Given the description of an element on the screen output the (x, y) to click on. 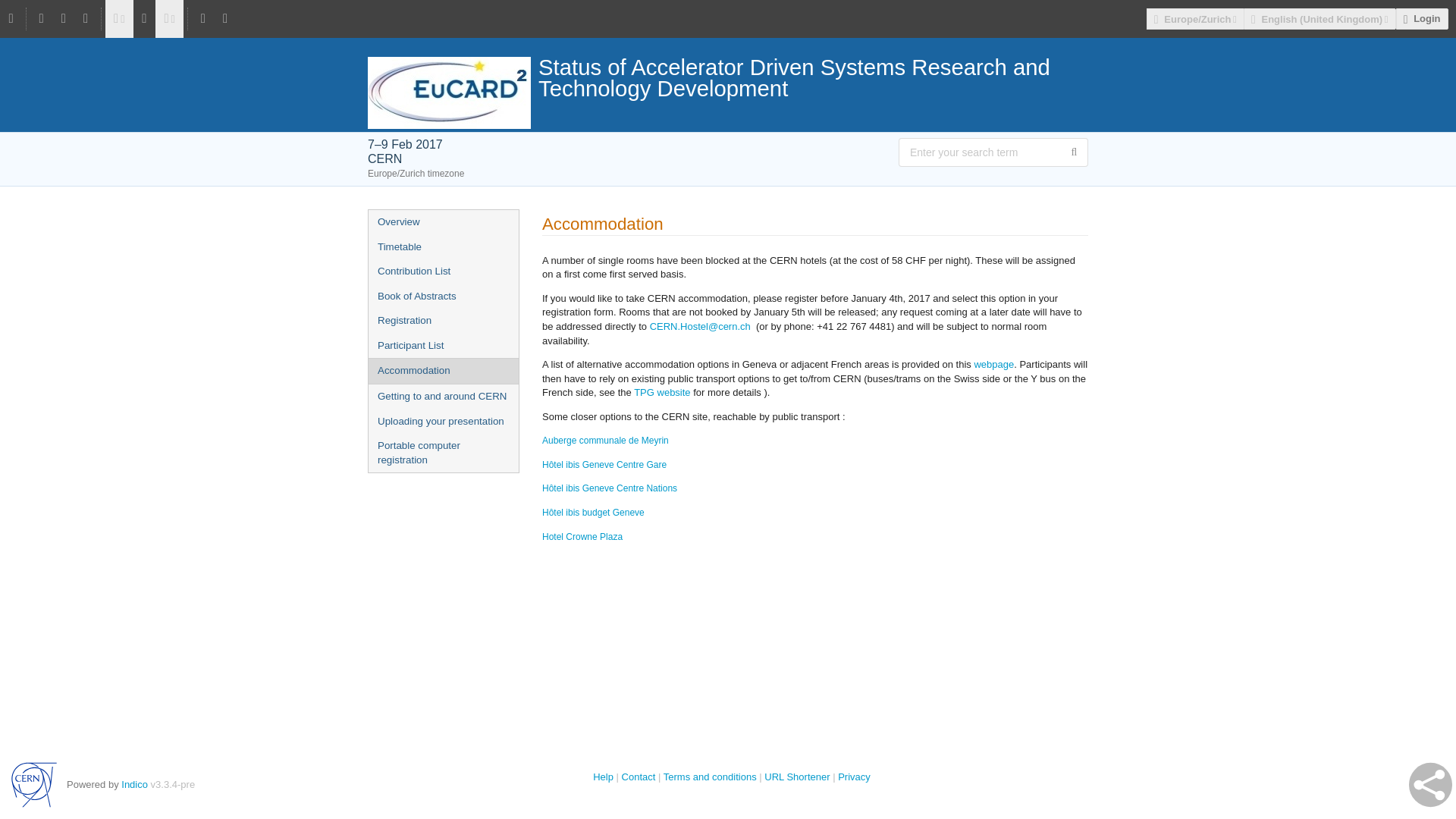
Timetable (443, 247)
Contribution List (443, 271)
Registration (443, 320)
Book of Abstracts (443, 296)
Login (1422, 19)
Overview (443, 222)
